Given the description of an element on the screen output the (x, y) to click on. 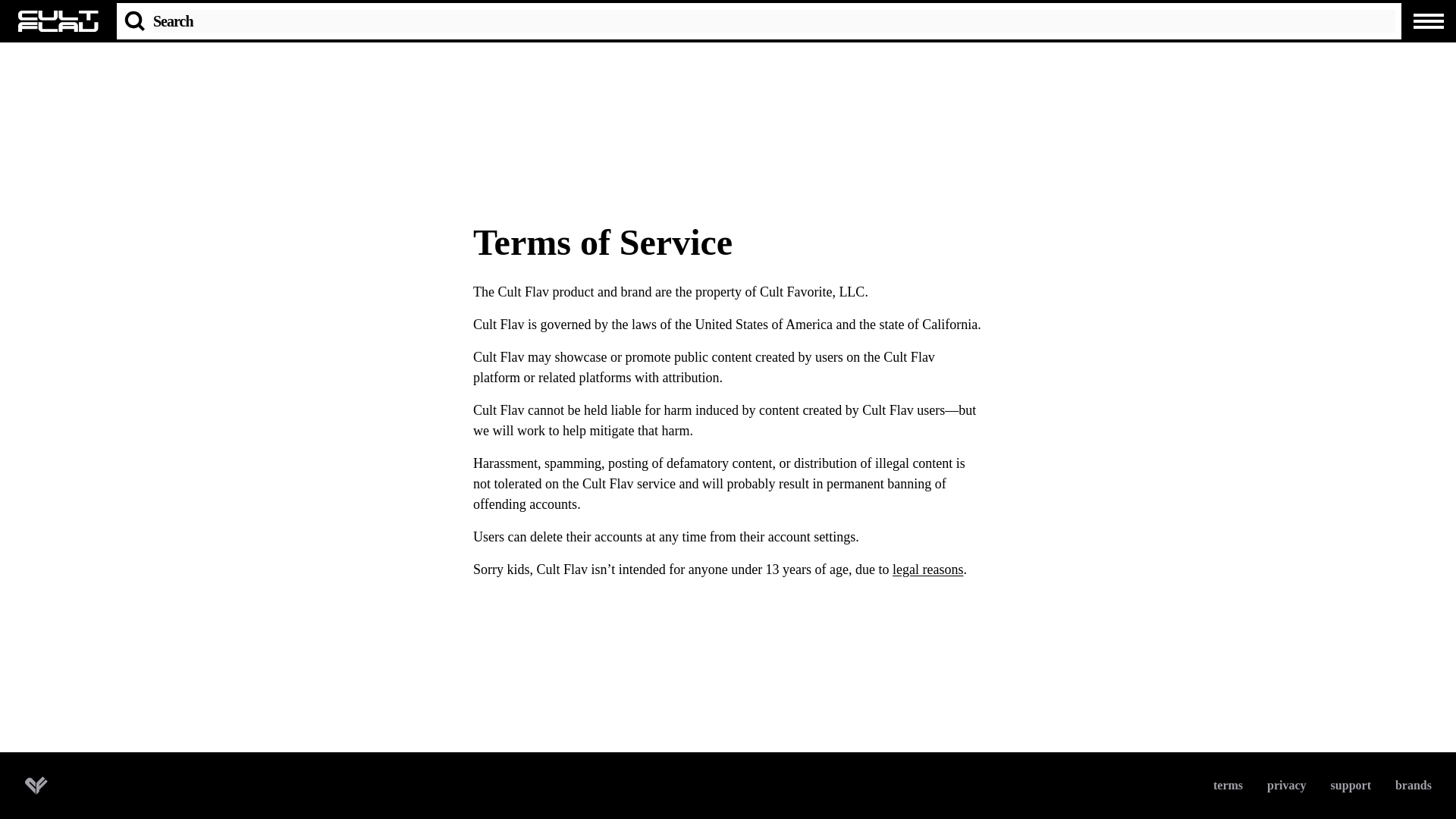
legal reasons (927, 568)
terms (1227, 785)
brands (1412, 785)
support (1350, 785)
privacy (1286, 785)
